Given the description of an element on the screen output the (x, y) to click on. 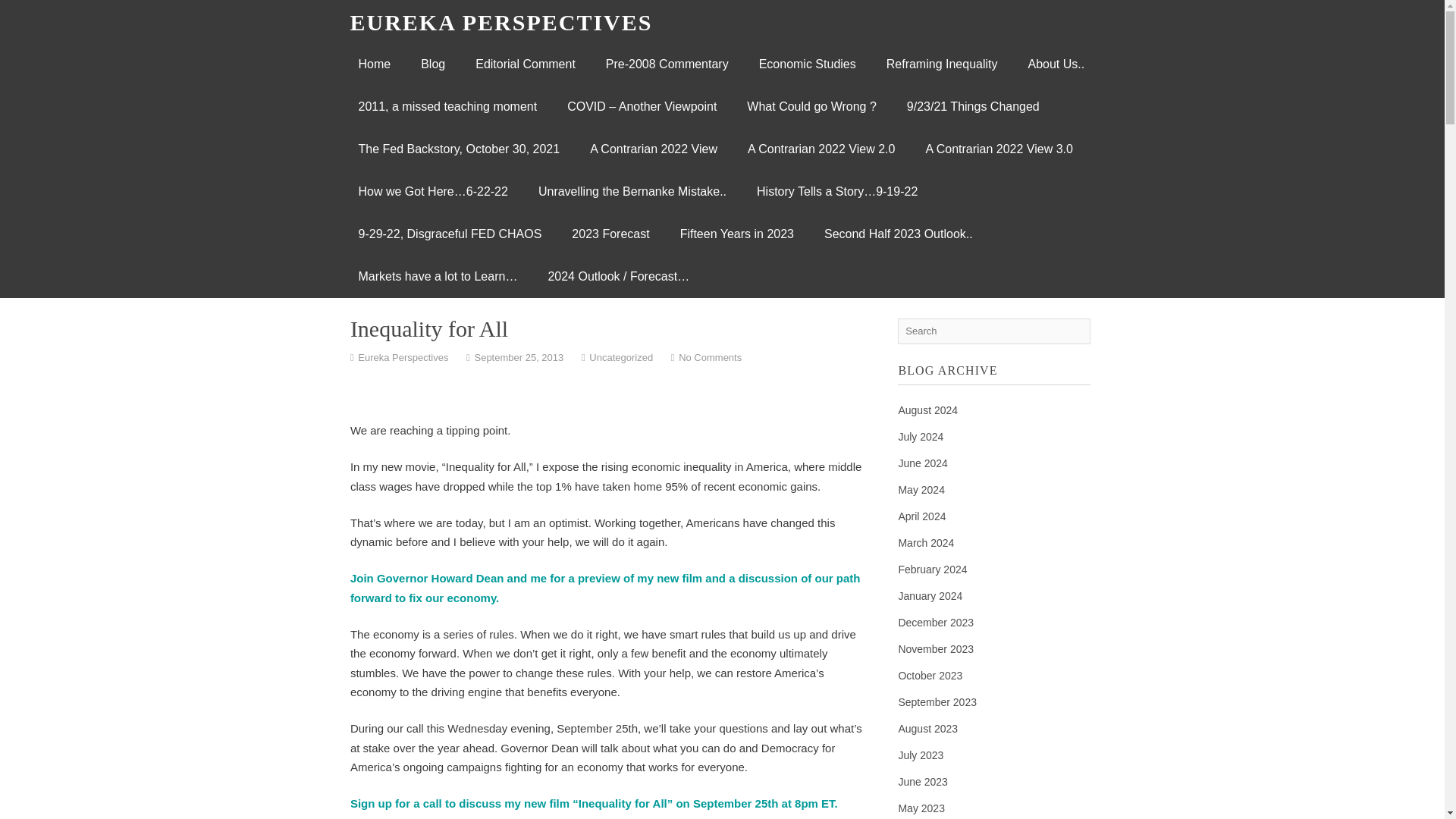
A Contrarian 2022 View 2.0 (821, 148)
About Us.. (1055, 64)
What Could go Wrong ? (811, 106)
EUREKA PERSPECTIVES (501, 22)
Economic Studies (807, 64)
Reframing Inequality (941, 64)
The Fed Backstory, October 30, 2021 (458, 148)
Skip to content (397, 64)
Pre-2008 Commentary (667, 64)
A Contrarian 2022 View (653, 148)
